Given the description of an element on the screen output the (x, y) to click on. 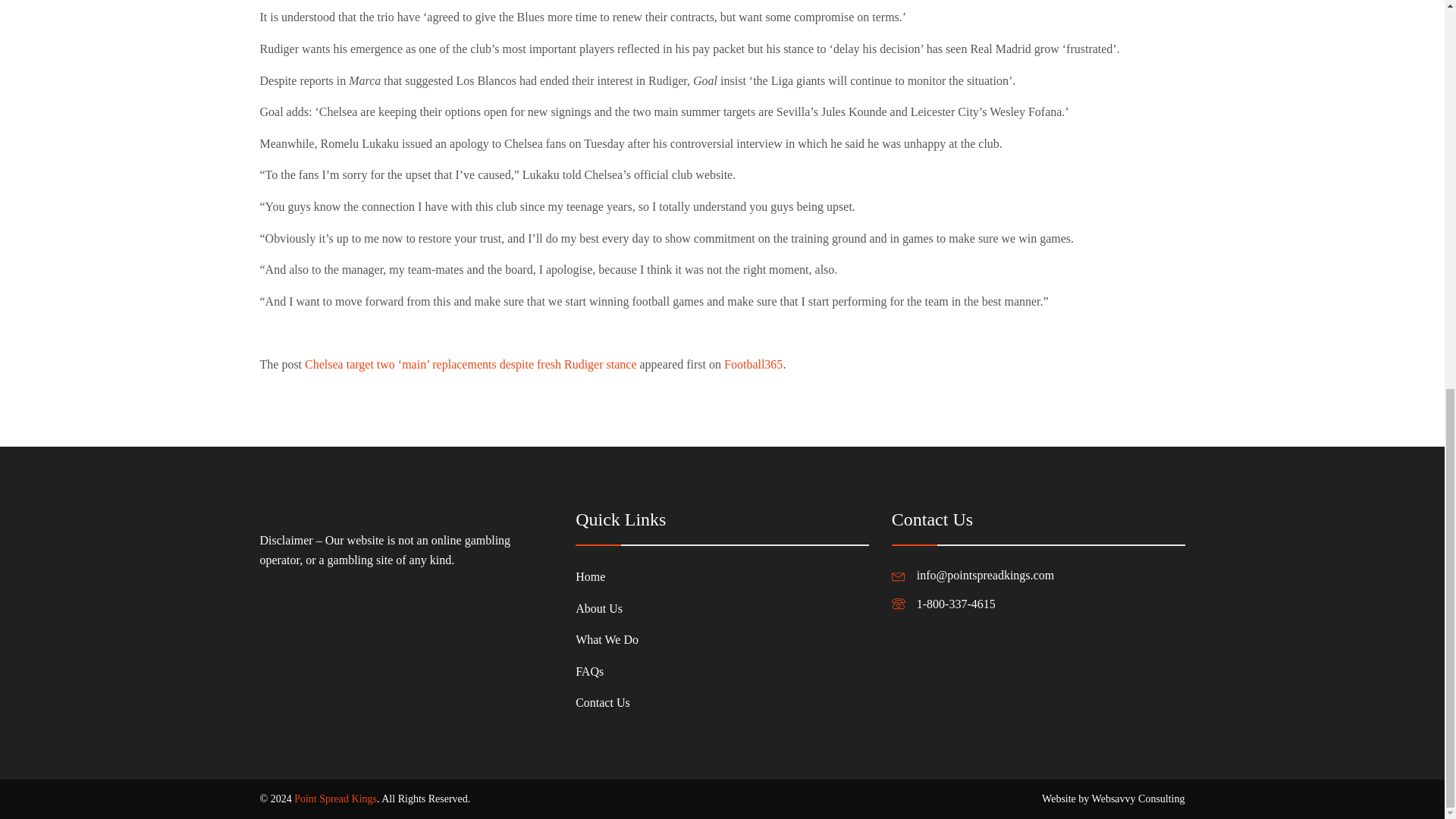
What We Do (607, 640)
Point Spread Kings (335, 798)
Website by Websavvy Consulting (1113, 799)
About Us (607, 608)
Contact Us (607, 703)
Football365 (753, 364)
1-800-337-4615 (956, 604)
FAQs (607, 671)
Home (607, 576)
